Given the description of an element on the screen output the (x, y) to click on. 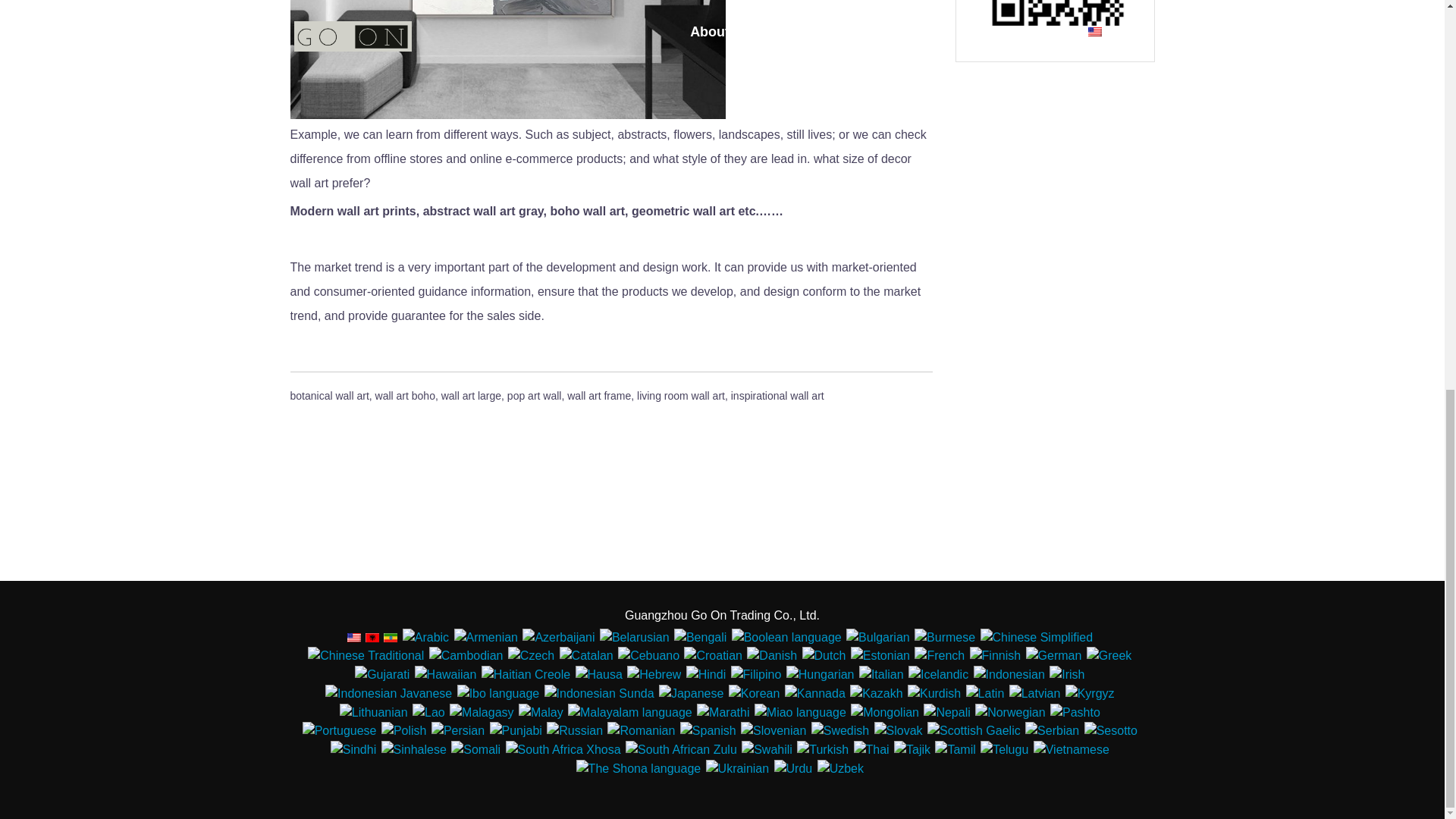
Cambodian (466, 656)
Boolean language (786, 637)
Amharic (390, 637)
English (354, 637)
Chinese Simplified (1036, 637)
Albanian (371, 637)
Azerbaijani (558, 637)
Arabic (425, 637)
Burmese (944, 637)
Armenian (484, 637)
Chinese Traditional (365, 656)
Bengali (700, 637)
Bulgarian (877, 637)
Belarusian (634, 637)
